Given the description of an element on the screen output the (x, y) to click on. 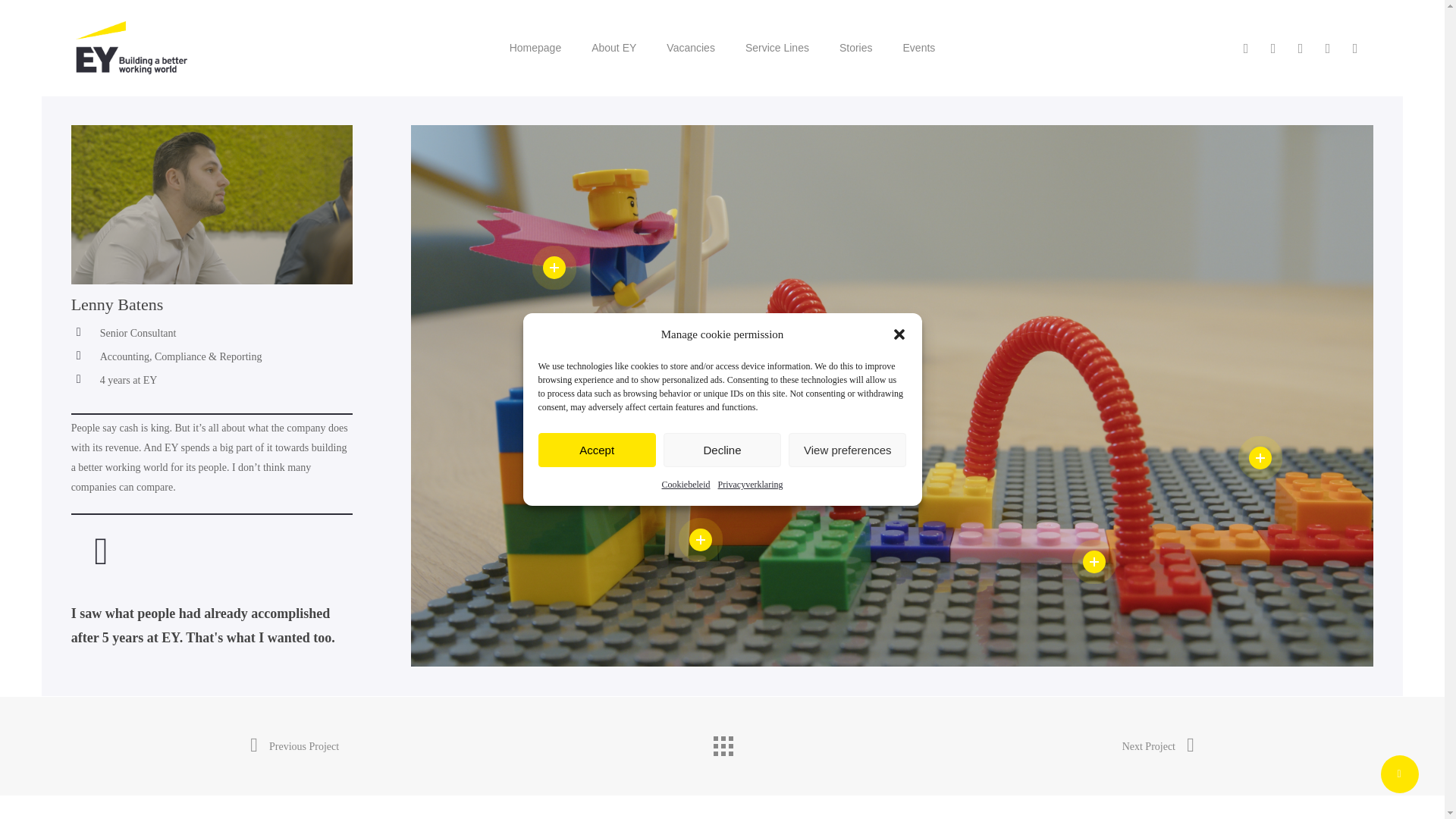
youtube (1300, 47)
Stories (856, 47)
Back to all projects (721, 742)
Service Lines (777, 47)
instagram (1327, 47)
Accept (597, 449)
linkedin (1273, 47)
Homepage (535, 47)
View preferences (847, 449)
Decline (721, 449)
